Given the description of an element on the screen output the (x, y) to click on. 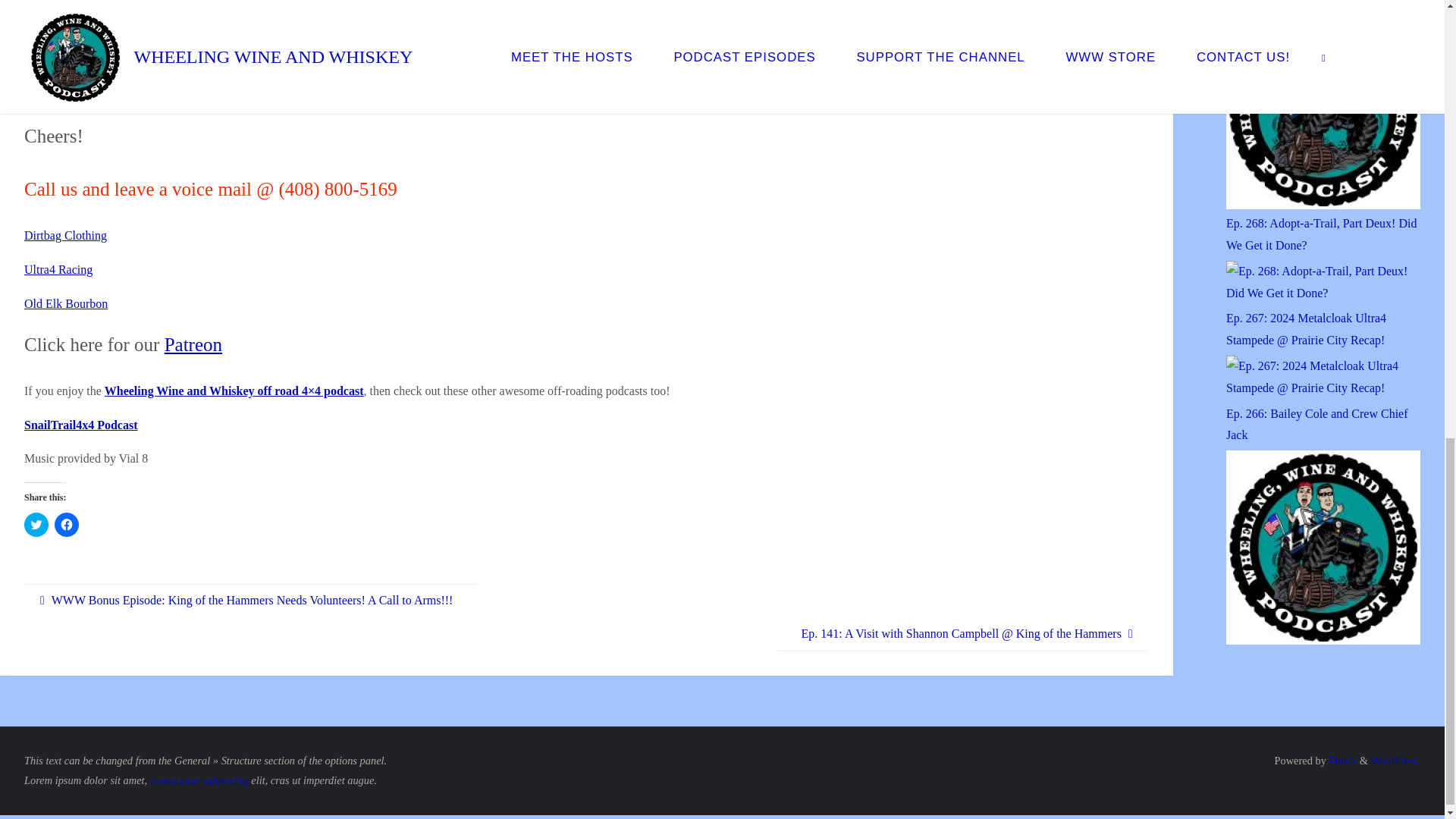
Old Elk Bourbon (65, 303)
Ultra4 Racing (58, 269)
Patreon (193, 344)
Click to share on Twitter (36, 524)
Click to share on Facebook (66, 524)
SnailTrail4x4 Podcast (81, 424)
Dirtbag Clothing (65, 235)
